Given the description of an element on the screen output the (x, y) to click on. 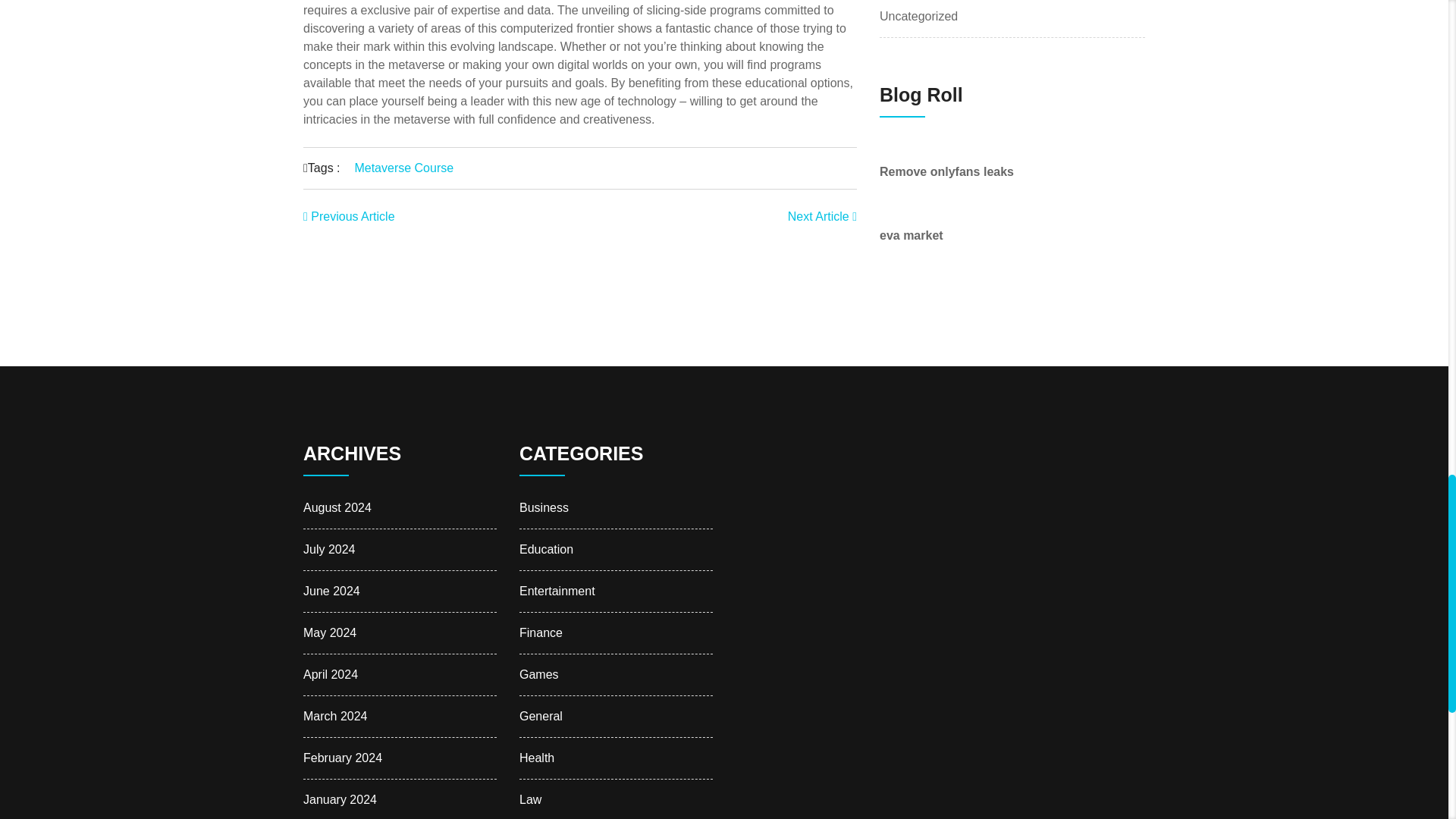
Metaverse Course (402, 167)
August 2024 (336, 507)
Previous Article (348, 215)
July 2024 (328, 549)
Next Article (822, 215)
Remove onlyfans leaks (946, 171)
eva market (911, 235)
Uncategorized (918, 16)
